Given the description of an element on the screen output the (x, y) to click on. 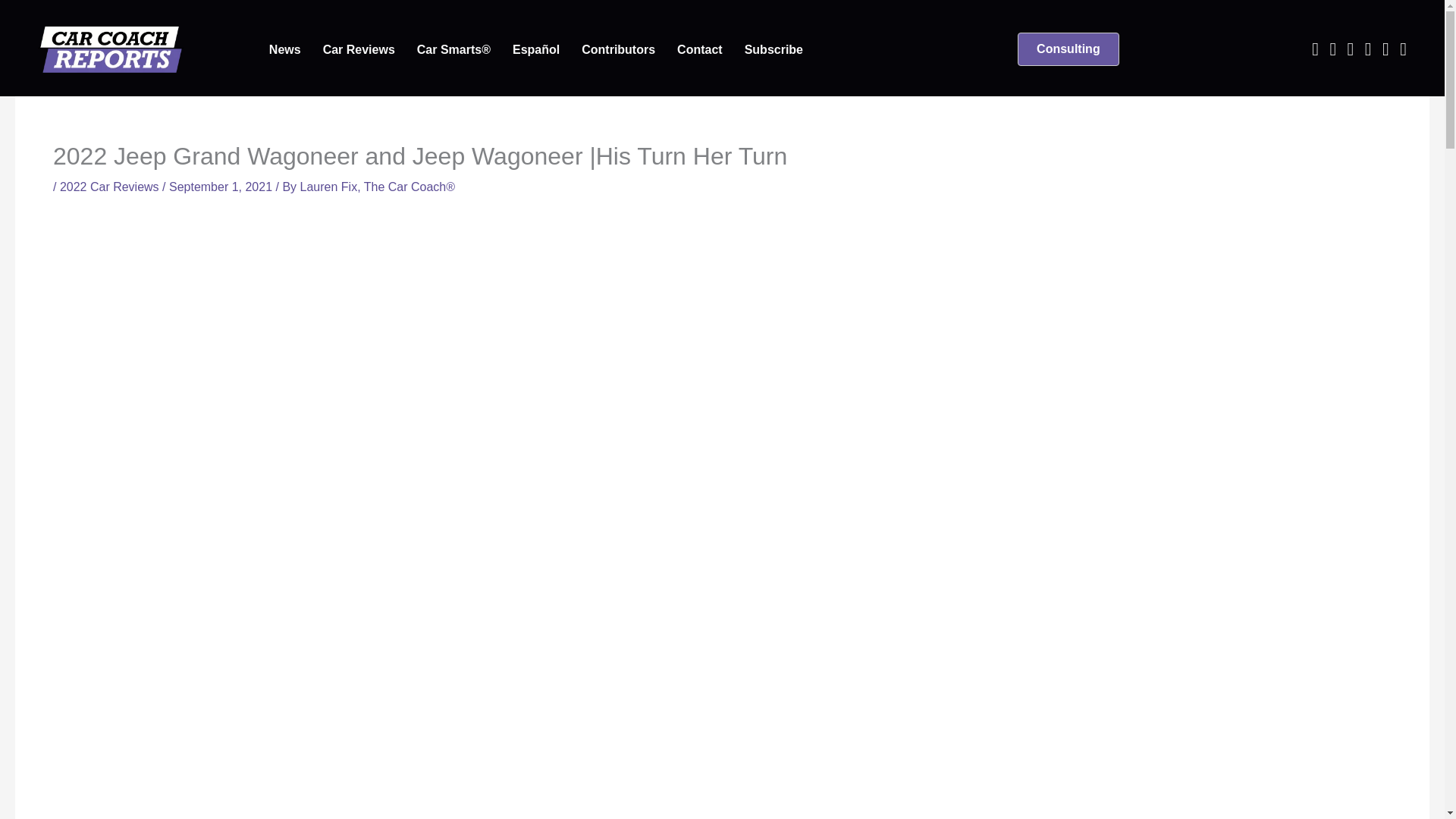
Consulting (1068, 49)
Contact (699, 49)
Car Reviews (359, 49)
Contributors (617, 49)
CCR LOGO NEW (110, 49)
Subscribe (773, 49)
News (285, 49)
